Given the description of an element on the screen output the (x, y) to click on. 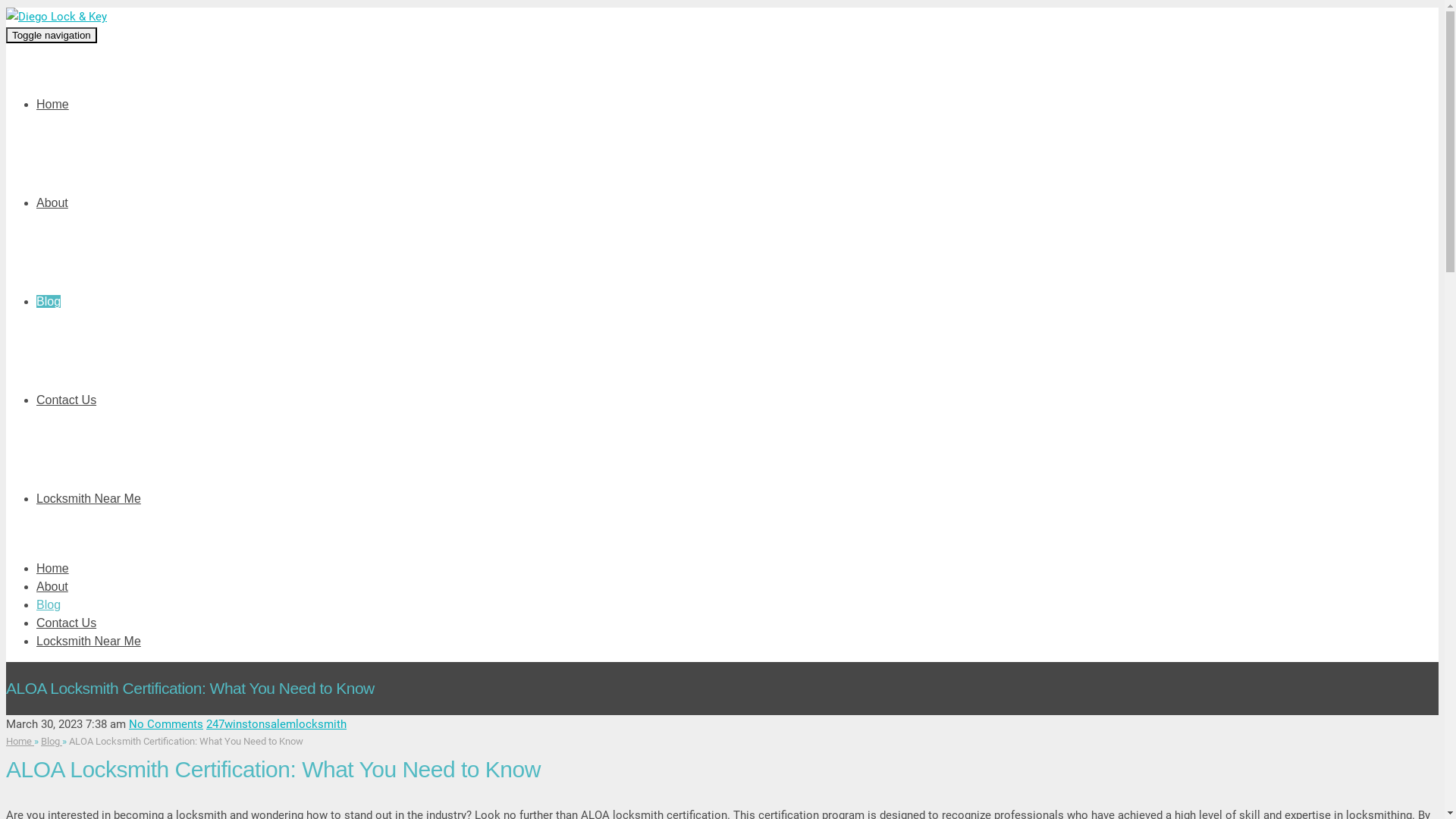
247winstonsalemlocksmith Element type: text (276, 724)
No Comments Element type: text (165, 724)
Locksmith Near Me Element type: text (88, 498)
Contact Us Element type: text (66, 622)
Home Element type: text (20, 740)
Contact Us Element type: text (66, 399)
About Element type: text (52, 586)
About Element type: text (52, 202)
Blog Element type: text (48, 604)
Home Element type: text (52, 103)
Blog Element type: text (51, 740)
Toggle navigation Element type: text (51, 35)
Home Element type: text (52, 567)
Locksmith Near Me Element type: text (88, 640)
Blog Element type: text (48, 300)
